Given the description of an element on the screen output the (x, y) to click on. 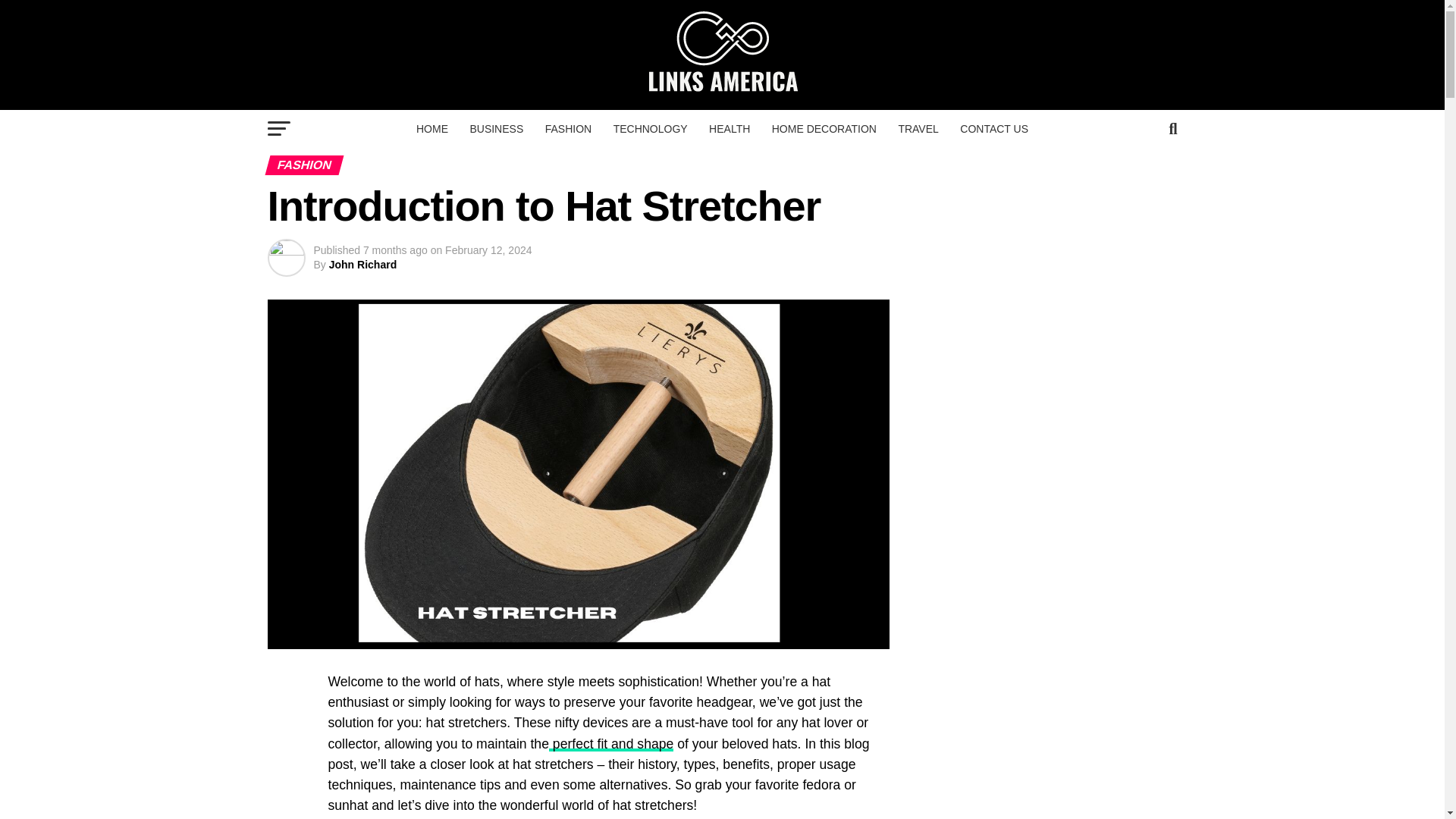
HOME (432, 128)
BUSINESS (496, 128)
FASHION (567, 128)
HOME DECORATION (823, 128)
TECHNOLOGY (650, 128)
Posts by John Richard (362, 264)
HEALTH (729, 128)
